Given the description of an element on the screen output the (x, y) to click on. 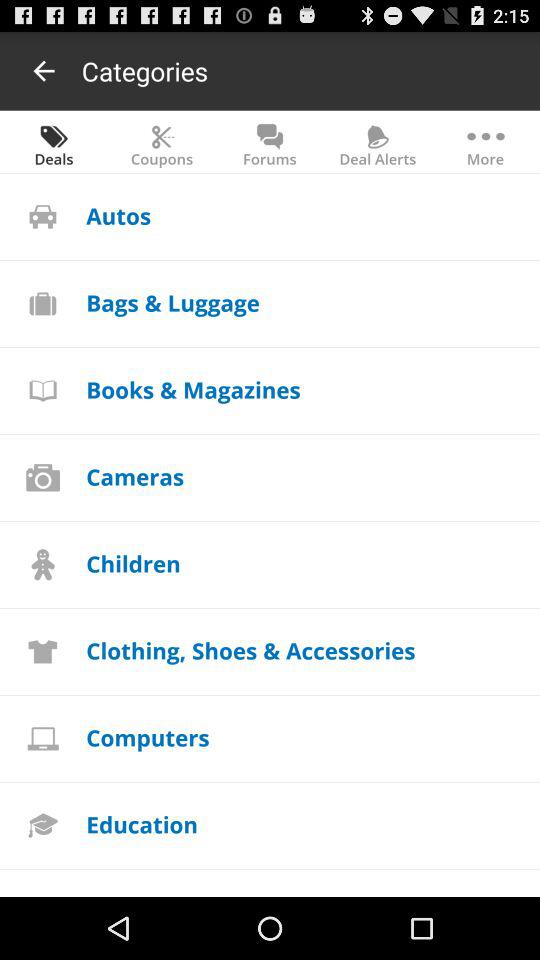
press the item above the coupons (144, 70)
